Given the description of an element on the screen output the (x, y) to click on. 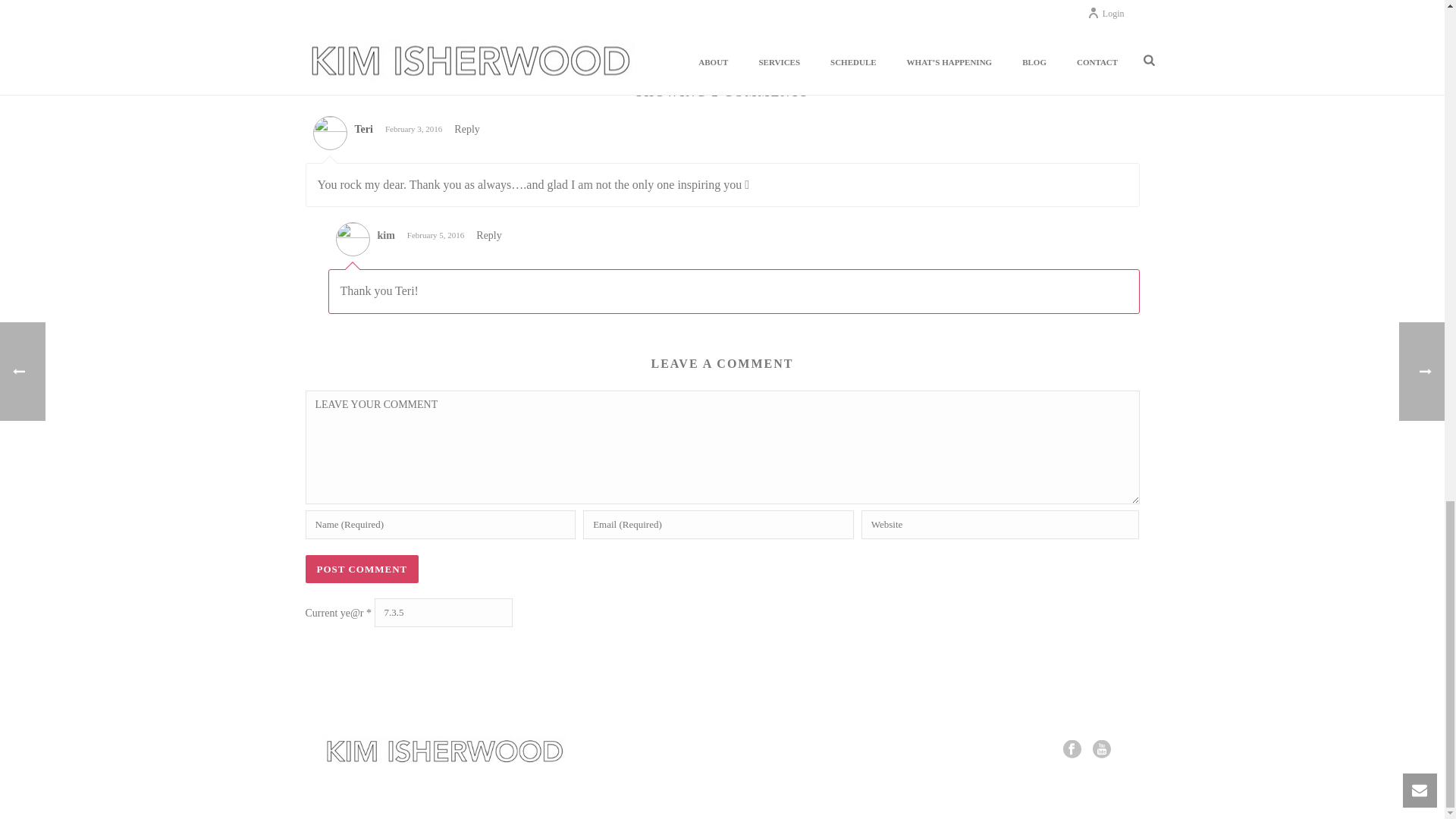
7.3.5 (443, 612)
 youtube (1101, 750)
POST COMMENT (361, 569)
